Given the description of an element on the screen output the (x, y) to click on. 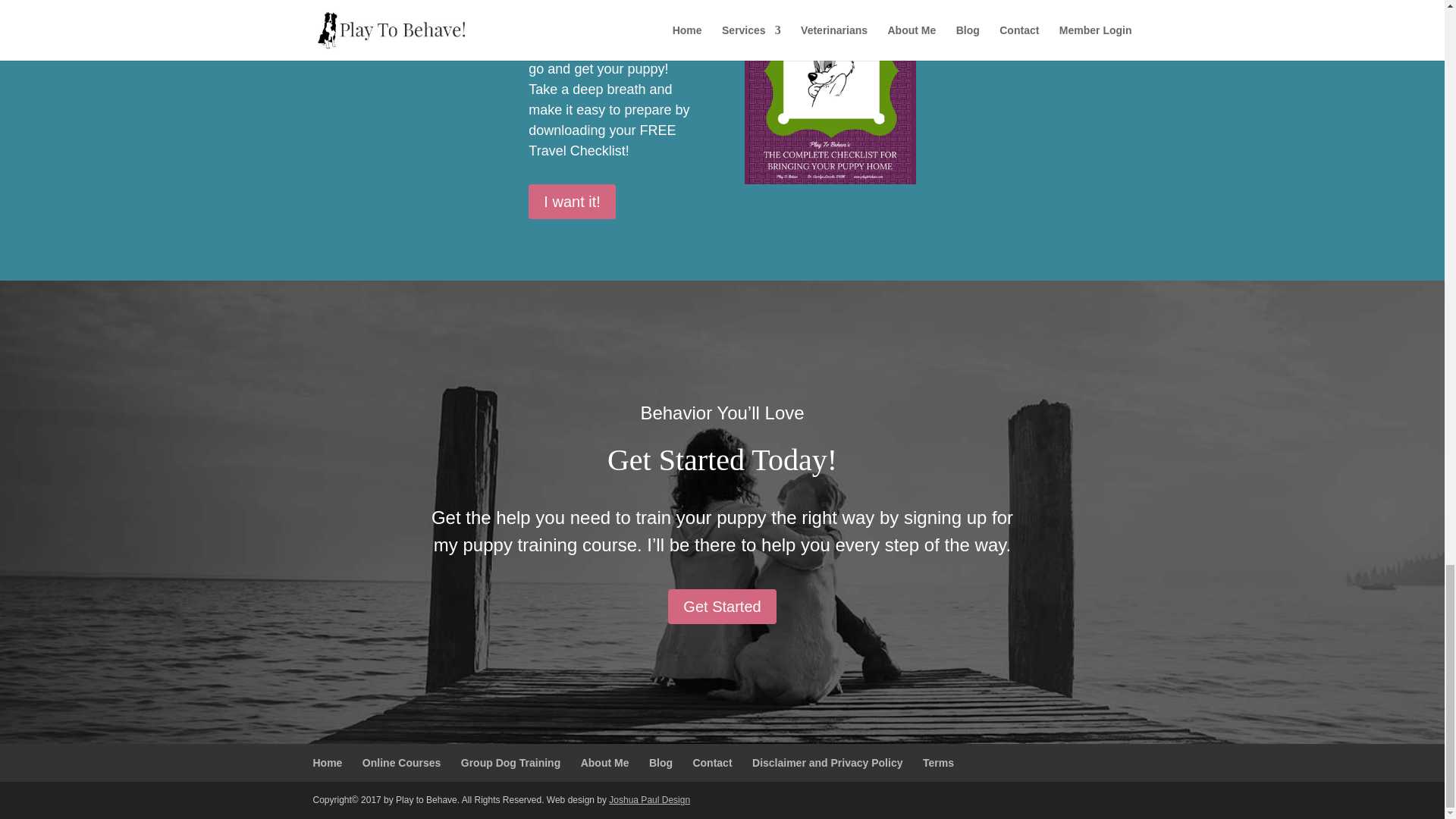
Disclaimer and Privacy Policy (827, 762)
Home (327, 762)
Blog (660, 762)
About Me (604, 762)
Group Dog Training (510, 762)
Contact (712, 762)
Get Started (722, 606)
Joshua Paul Design (649, 799)
I want it! (571, 201)
Terms (938, 762)
Puppy Training Guide (829, 92)
Online Courses (401, 762)
